Given the description of an element on the screen output the (x, y) to click on. 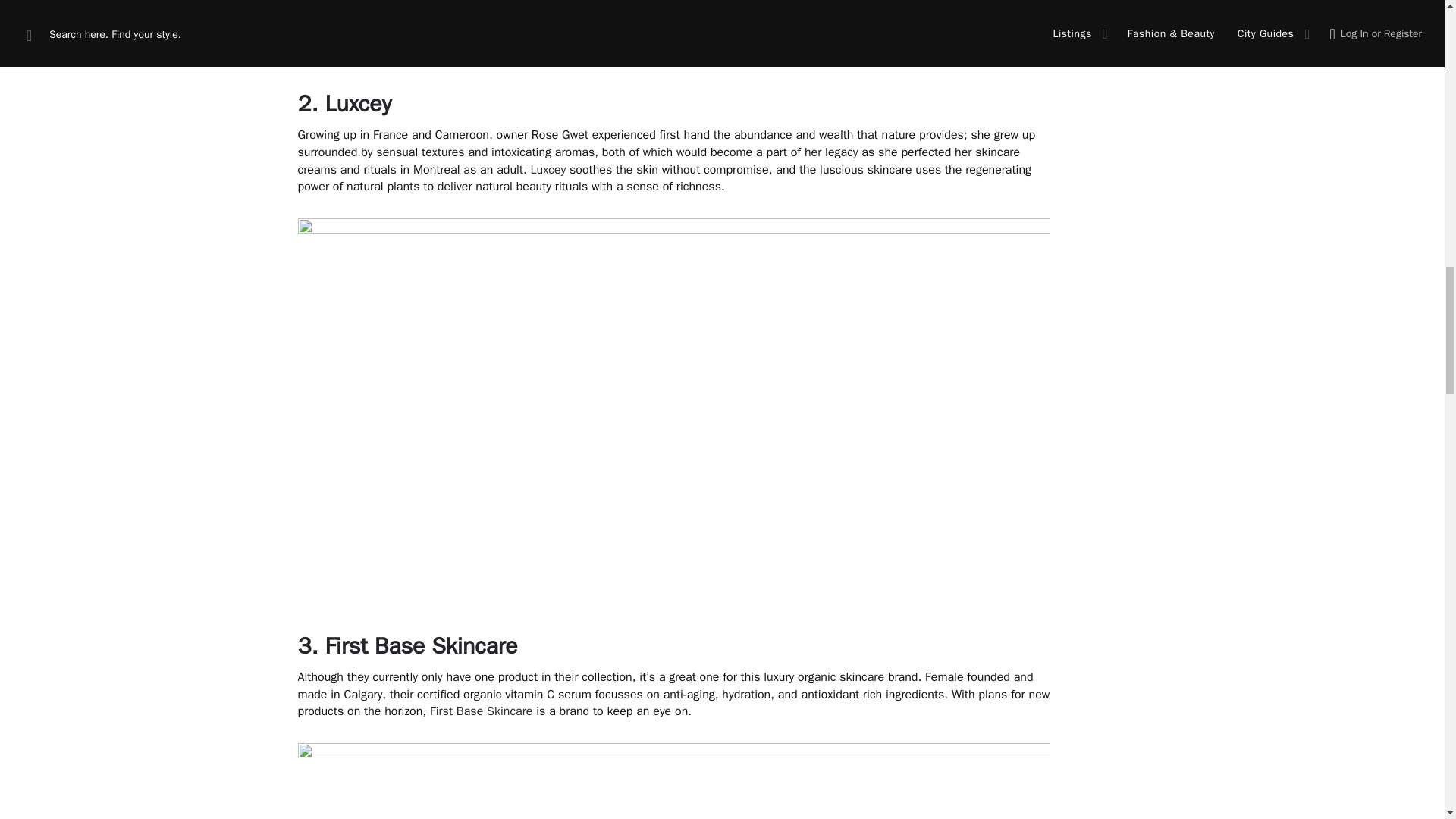
Luxcey (357, 103)
First Base Skincare (480, 711)
First Base Skincare (420, 645)
Luxcey (548, 169)
